Given the description of an element on the screen output the (x, y) to click on. 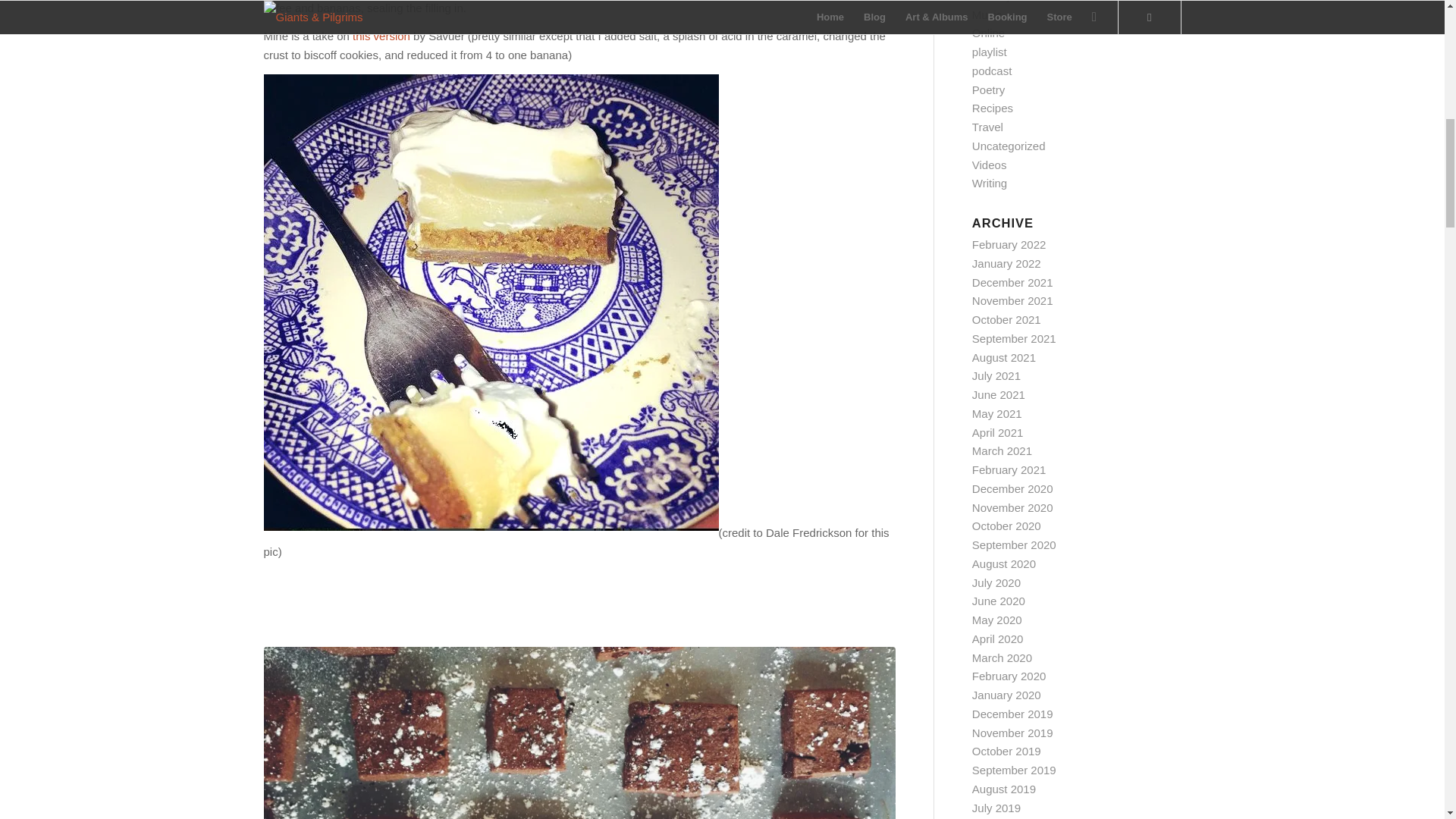
The Cookie Exchange (579, 733)
this version (379, 35)
